Given the description of an element on the screen output the (x, y) to click on. 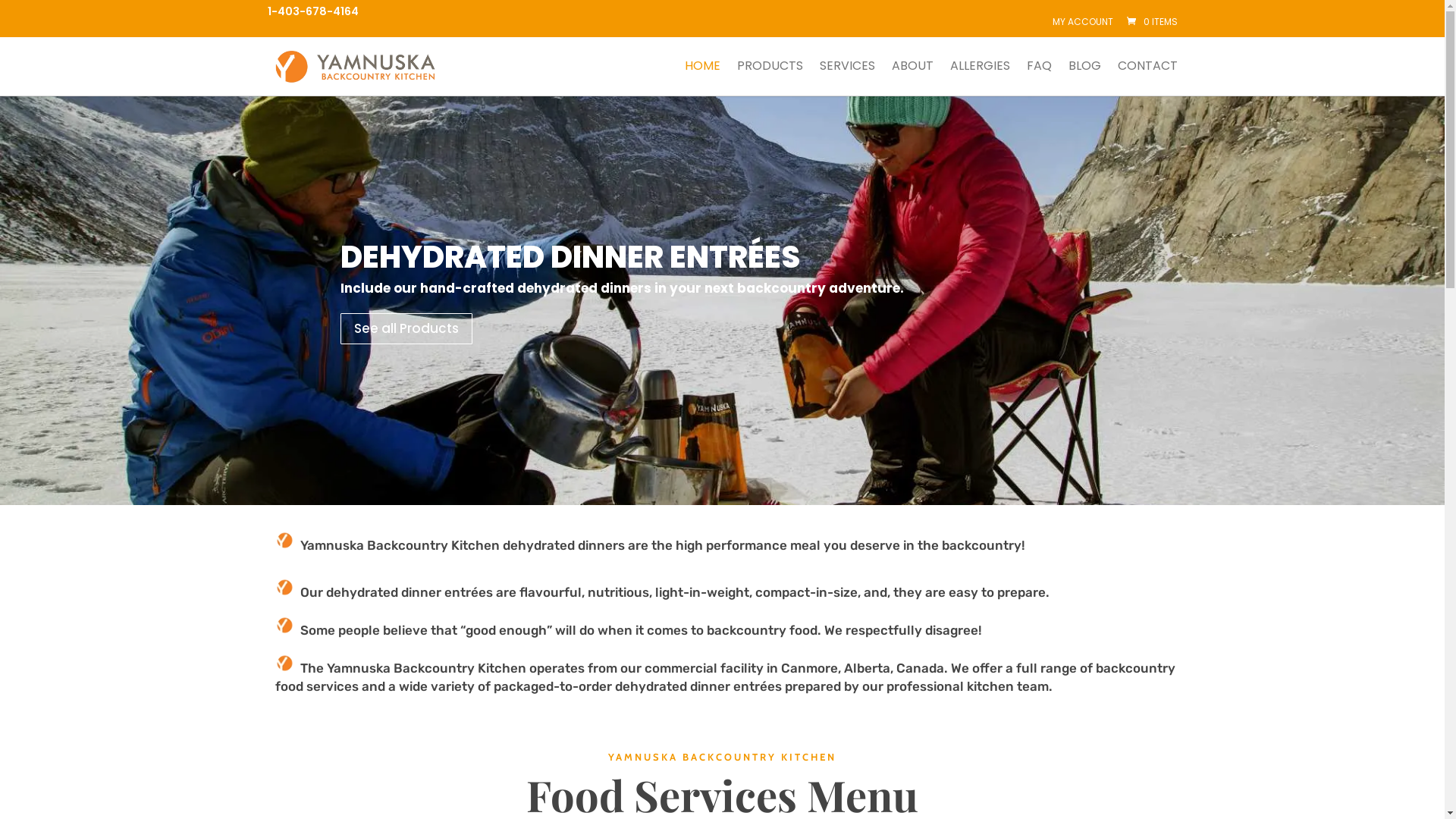
ABOUT Element type: text (912, 77)
0 ITEMS Element type: text (1149, 21)
See all Products Element type: text (405, 328)
ALLERGIES Element type: text (979, 77)
PRODUCTS Element type: text (770, 77)
CONTACT Element type: text (1147, 77)
HOME Element type: text (701, 77)
MY ACCOUNT Element type: text (1082, 21)
BLOG Element type: text (1083, 77)
SERVICES Element type: text (846, 77)
FAQ Element type: text (1038, 77)
